Given the description of an element on the screen output the (x, y) to click on. 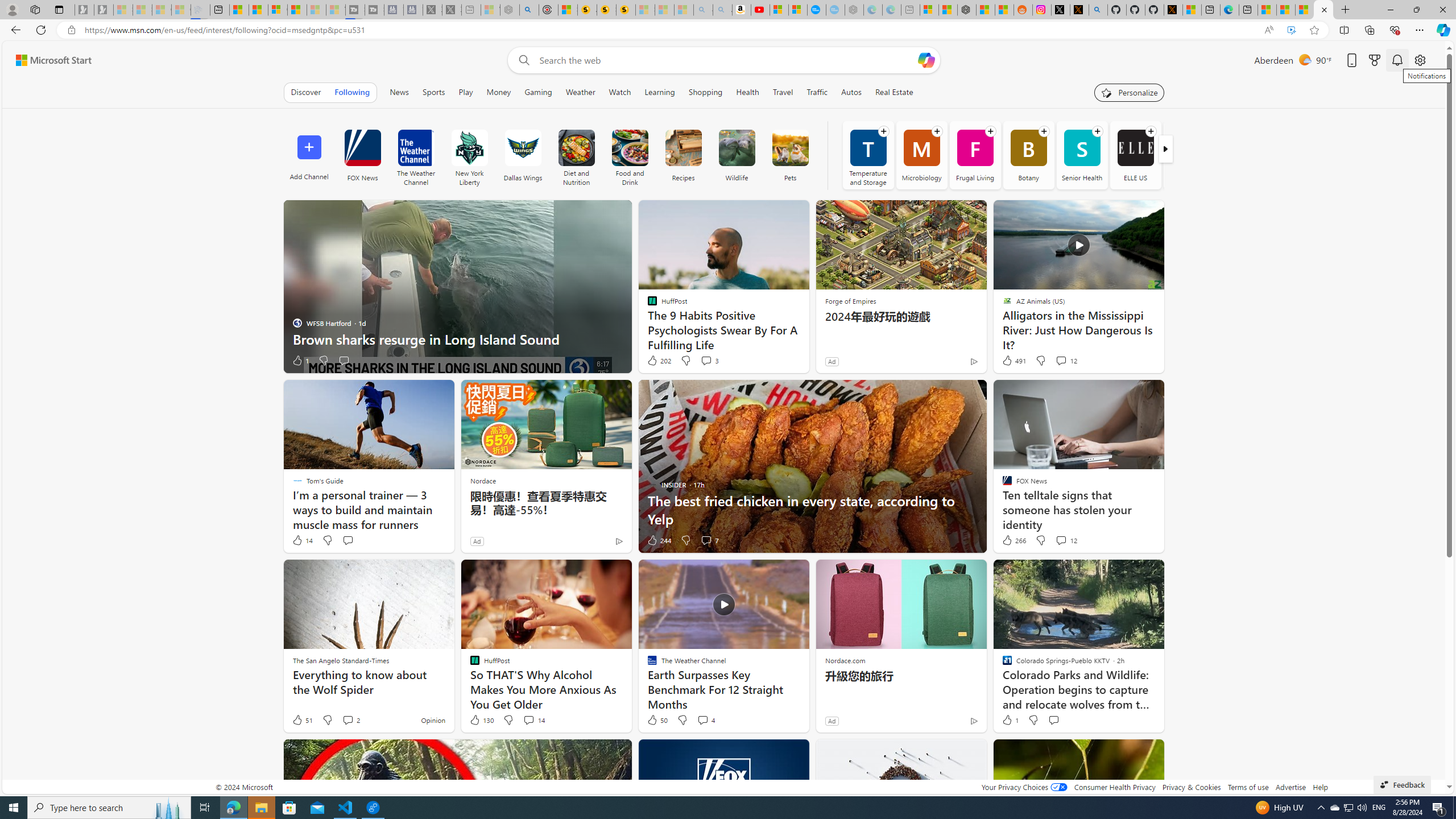
View comments 7 Comment (709, 539)
Web search (520, 60)
View comments 3 Comment (709, 360)
Opinion: Op-Ed and Commentary - USA TODAY (816, 9)
